Given the description of an element on the screen output the (x, y) to click on. 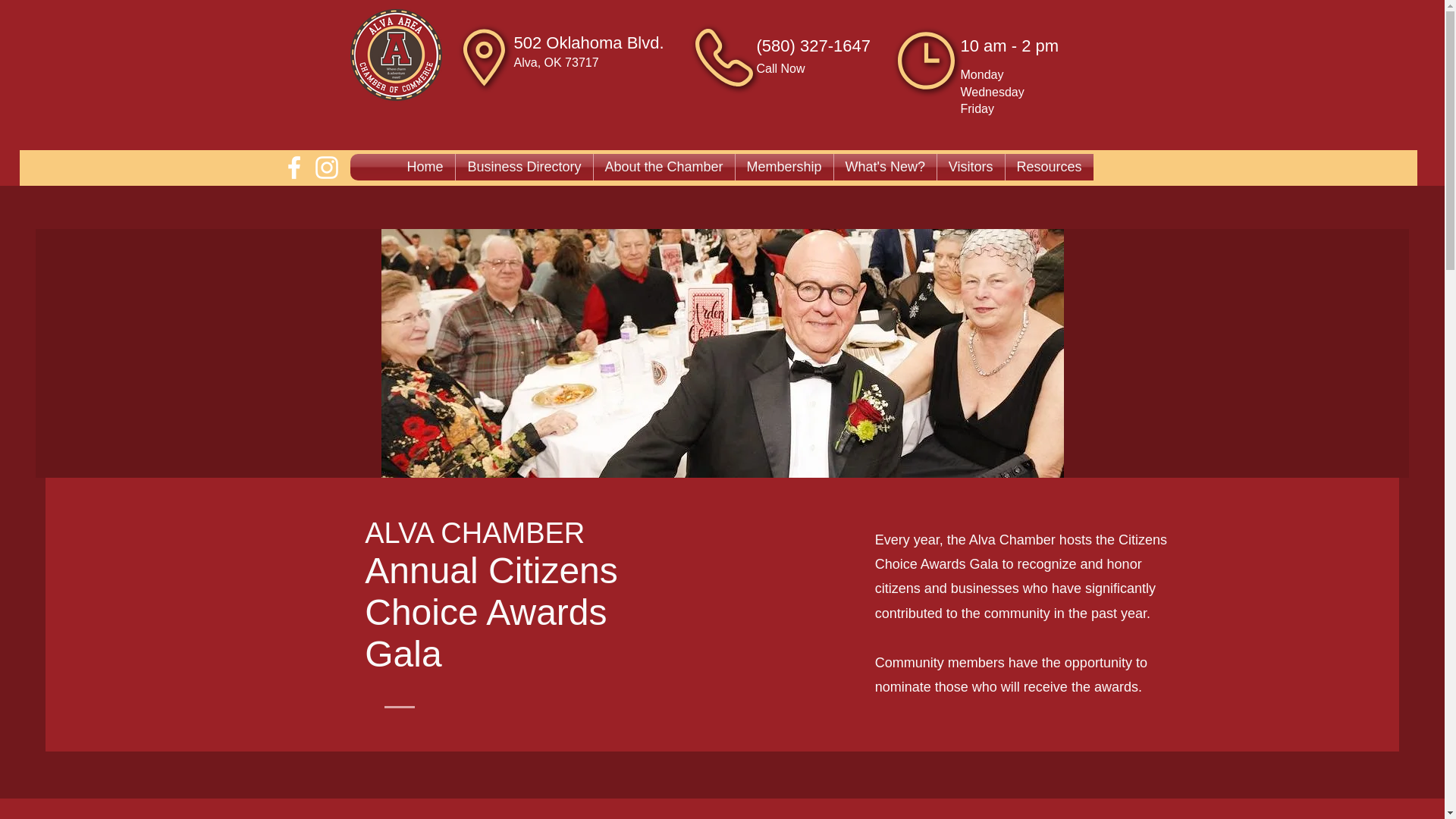
Business Directory (523, 166)
Membership (783, 166)
Home (425, 166)
About the Chamber (662, 166)
Call Now (781, 68)
